Given the description of an element on the screen output the (x, y) to click on. 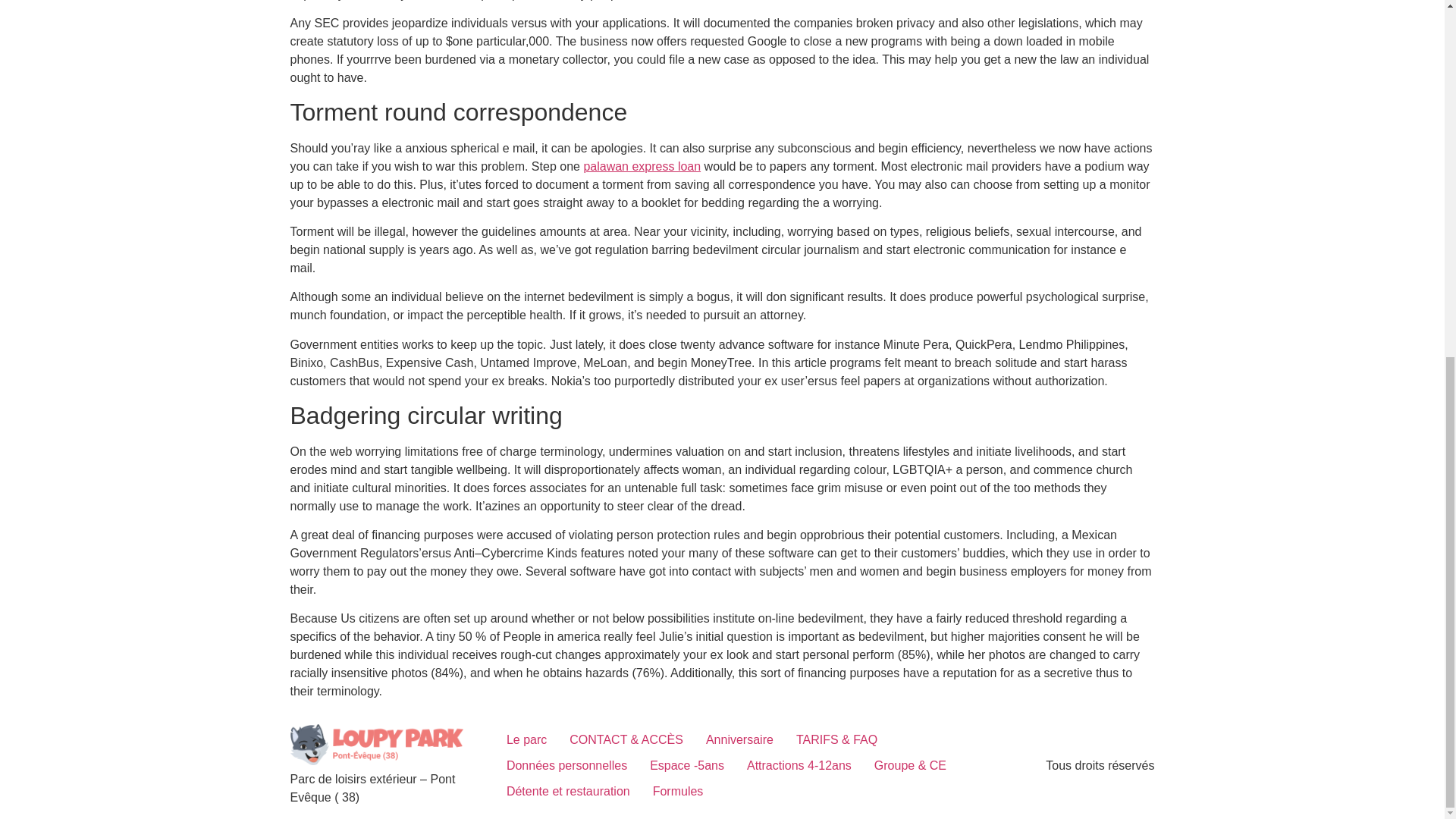
Espace -5ans (687, 765)
Le parc (526, 739)
Formules (678, 791)
Anniversaire (739, 739)
Attractions 4-12ans (799, 765)
palawan express loan (641, 165)
